Given the description of an element on the screen output the (x, y) to click on. 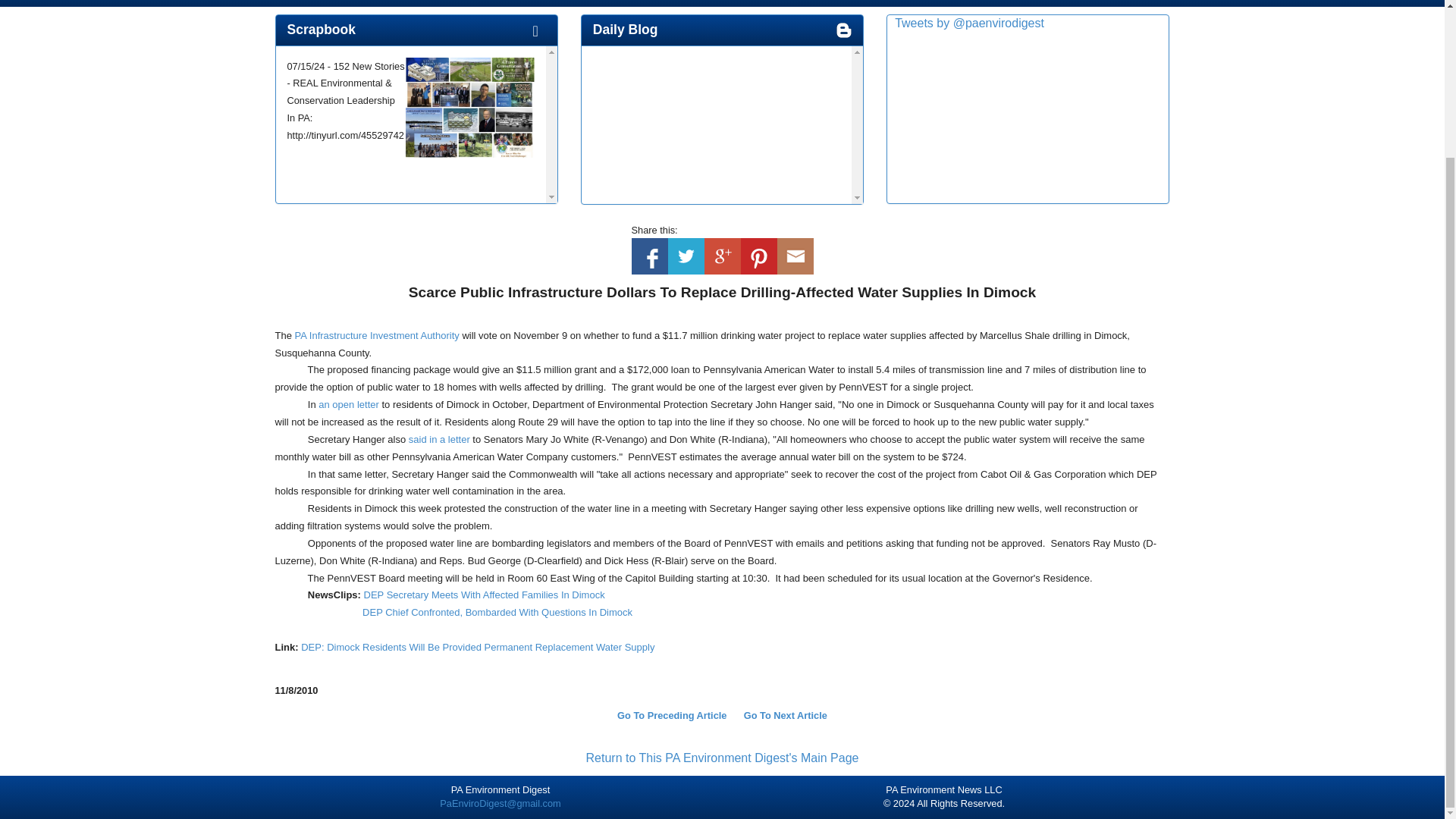
Search (769, 2)
Go To Preceding Article (671, 715)
Daily Blog (625, 29)
Share on Twitter (684, 255)
DEP Chief Confronted, Bombarded With Questions In Dimock (496, 612)
an open letter (348, 404)
Grants (701, 2)
Return to This PA Environment Digest's Main Page (722, 757)
PA Infrastructure Investment Authority (377, 335)
said in a letter (439, 439)
an open letter (348, 404)
Share on Pinterest (757, 255)
said in a letter (439, 439)
DEP Secretary Meets With Affected Families In Dimock (484, 594)
Calendar (627, 2)
